Given the description of an element on the screen output the (x, y) to click on. 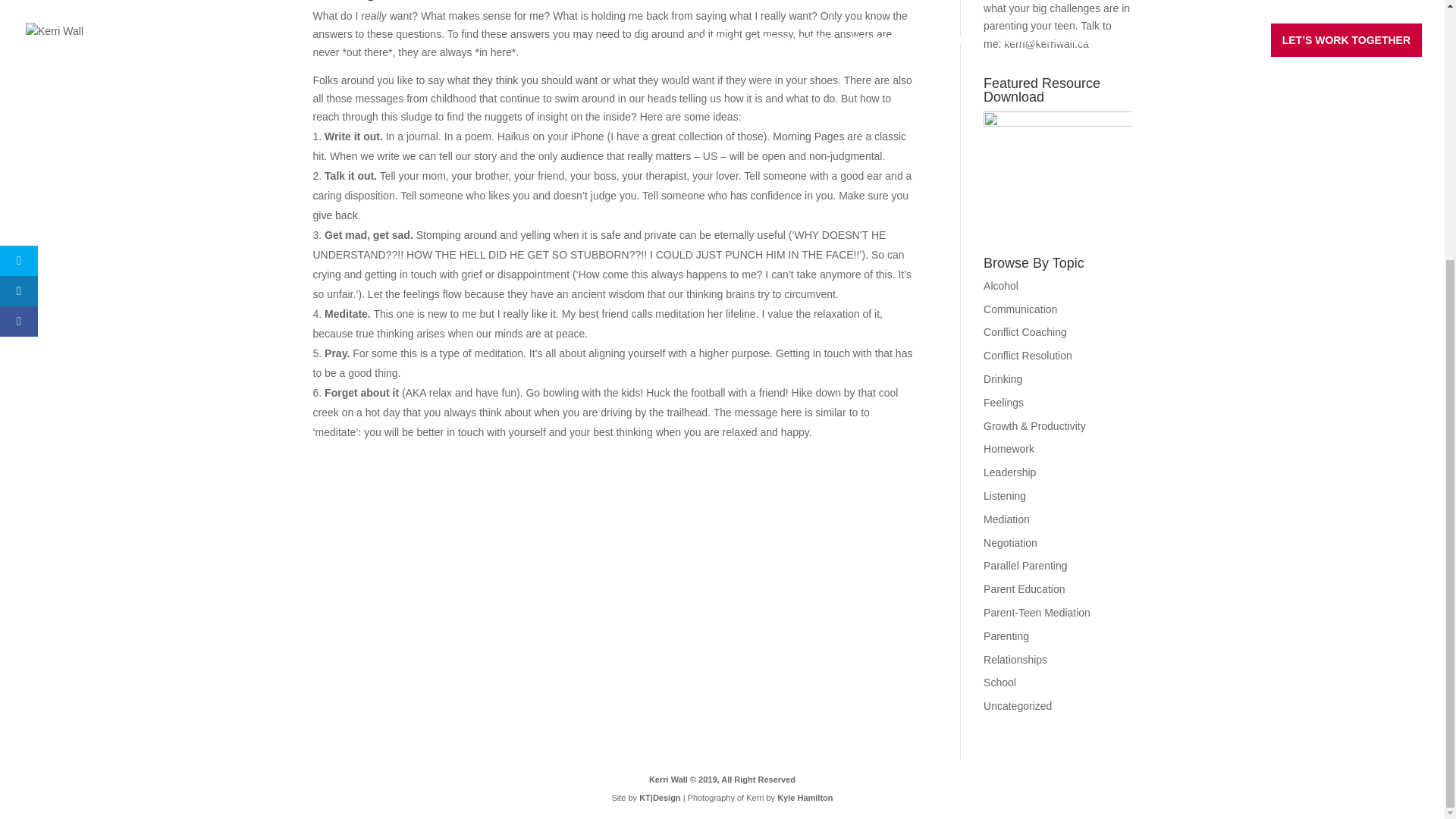
Parallel Parenting (1025, 565)
Uncategorized (1017, 705)
Parent-Teen Mediation (1037, 612)
Parent Education (1024, 589)
Drinking (1003, 378)
Kyle Hamilton (804, 797)
Conflict Resolution (1027, 355)
Feelings (1003, 402)
Morning Pages (808, 136)
Alcohol (1000, 285)
Relationships (1015, 659)
what they think you should want (521, 80)
School (1000, 682)
Listening (1005, 495)
Negotiation (1010, 542)
